Given the description of an element on the screen output the (x, y) to click on. 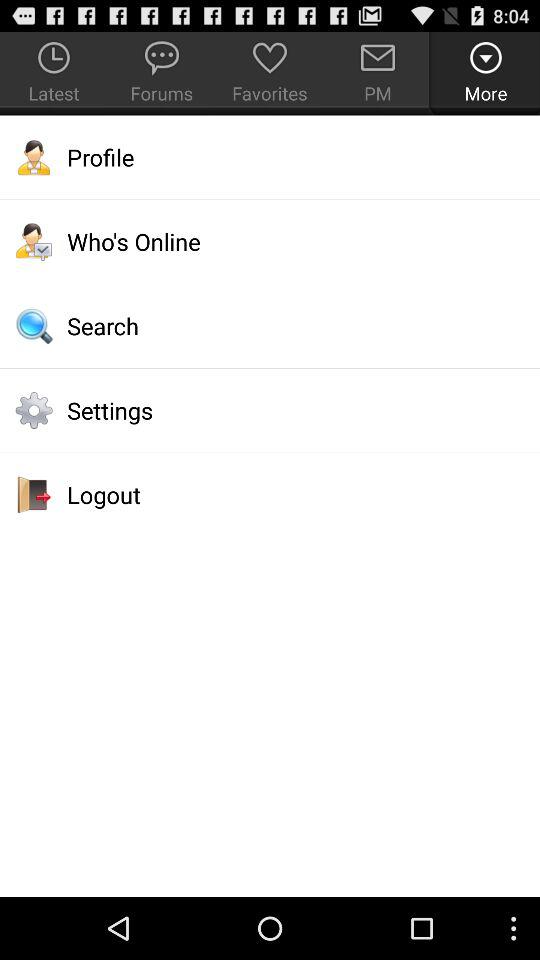
select logout app (270, 494)
